Given the description of an element on the screen output the (x, y) to click on. 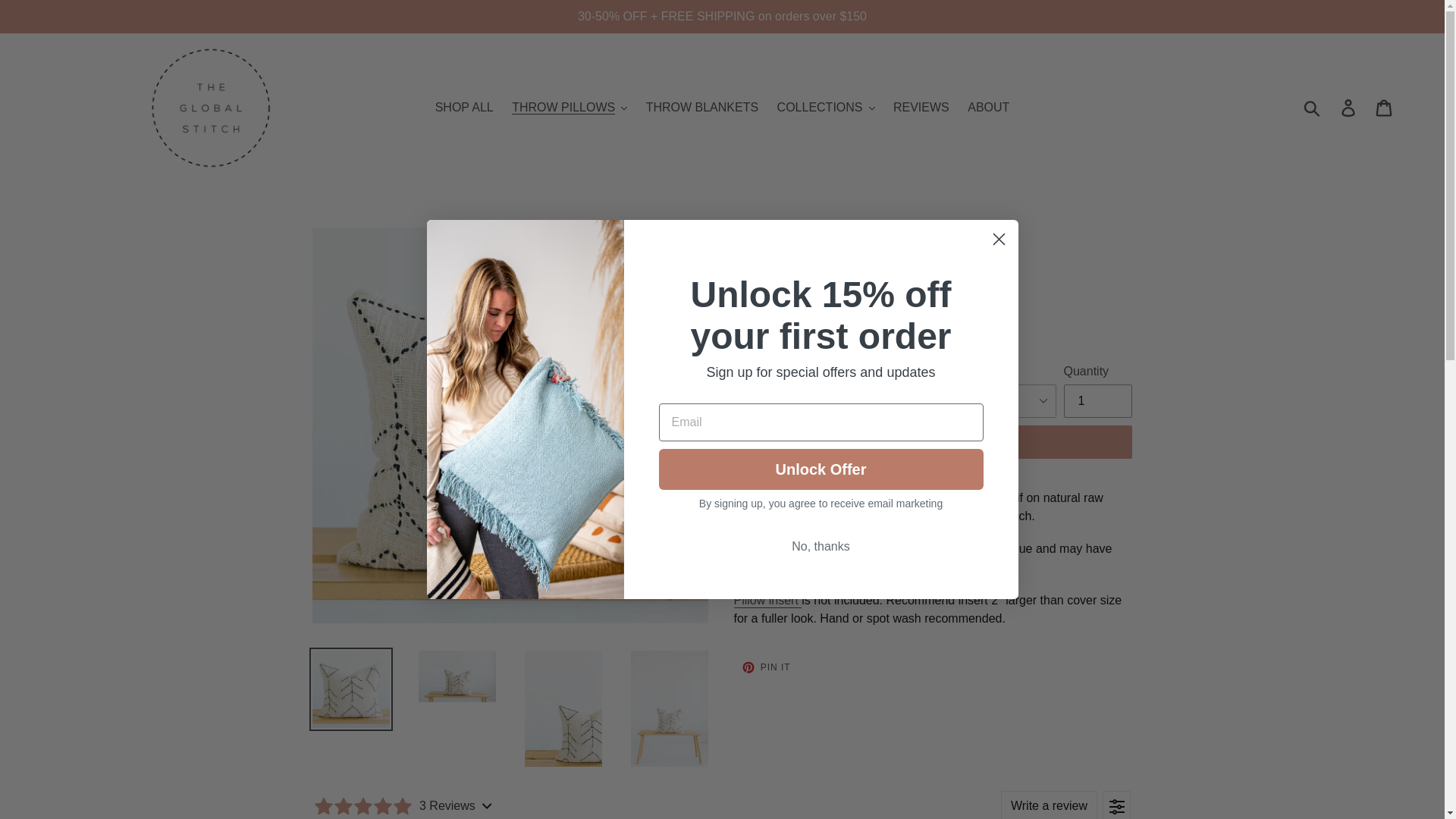
REVIEWS (920, 107)
THROW BLANKETS (702, 107)
Product reviews widget (721, 797)
20 inch throw pillow insert (767, 600)
Log in (1349, 107)
Cart (1385, 107)
ABOUT (987, 107)
1 (1096, 400)
Submit (1313, 107)
SHOP ALL (464, 107)
